Given the description of an element on the screen output the (x, y) to click on. 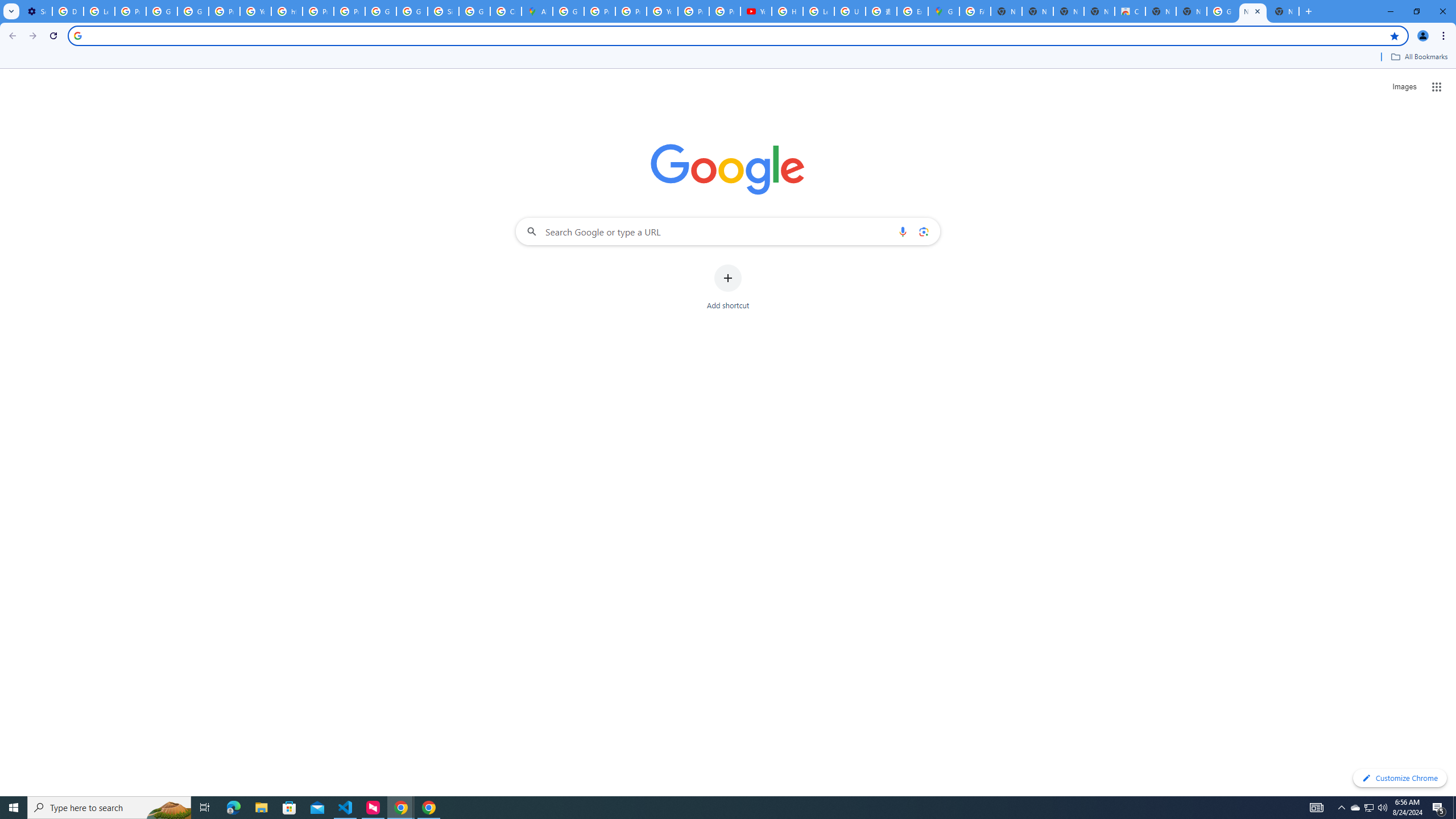
Google Maps (943, 11)
Settings - On startup (36, 11)
Create your Google Account (505, 11)
